Given the description of an element on the screen output the (x, y) to click on. 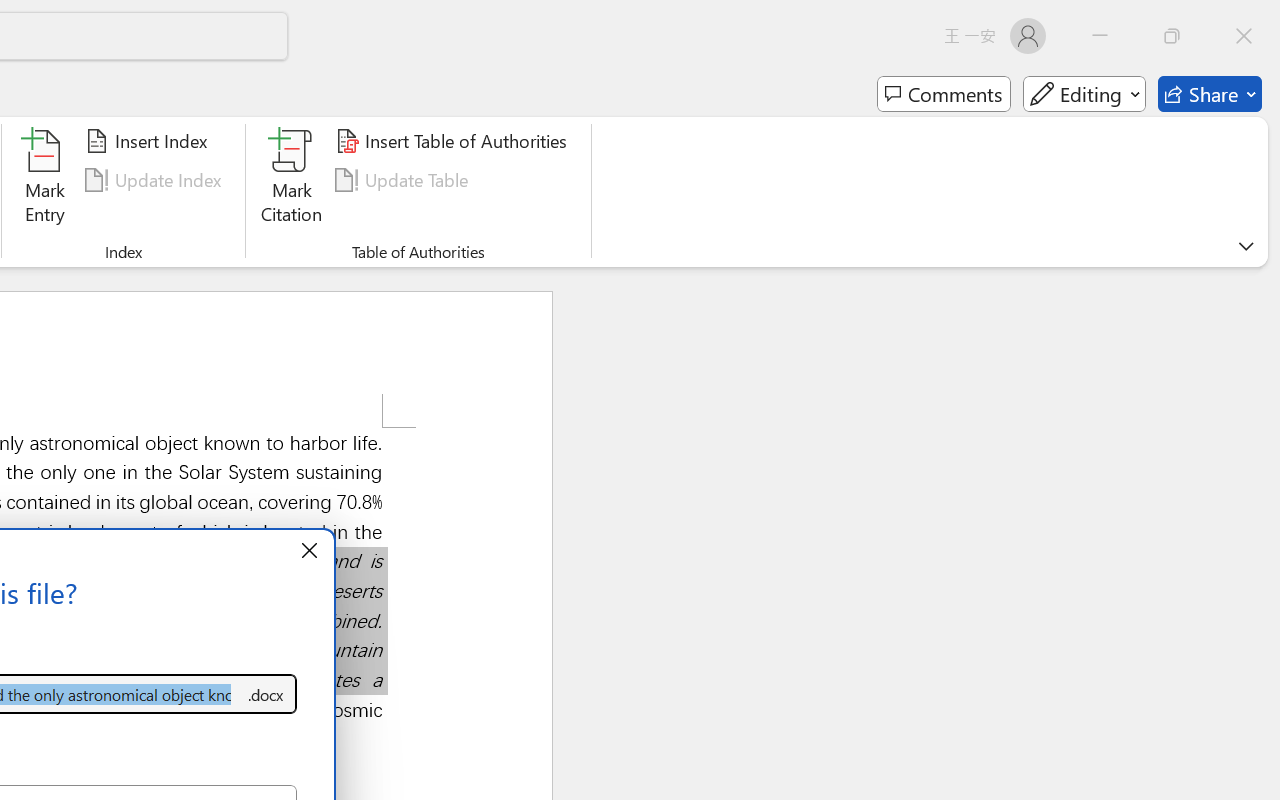
Mark Citation... (292, 179)
Update Table (404, 179)
Save as type (265, 694)
Insert Index... (149, 141)
Insert Table of Authorities... (453, 141)
Update Index (156, 179)
Mark Entry... (44, 179)
